Given the description of an element on the screen output the (x, y) to click on. 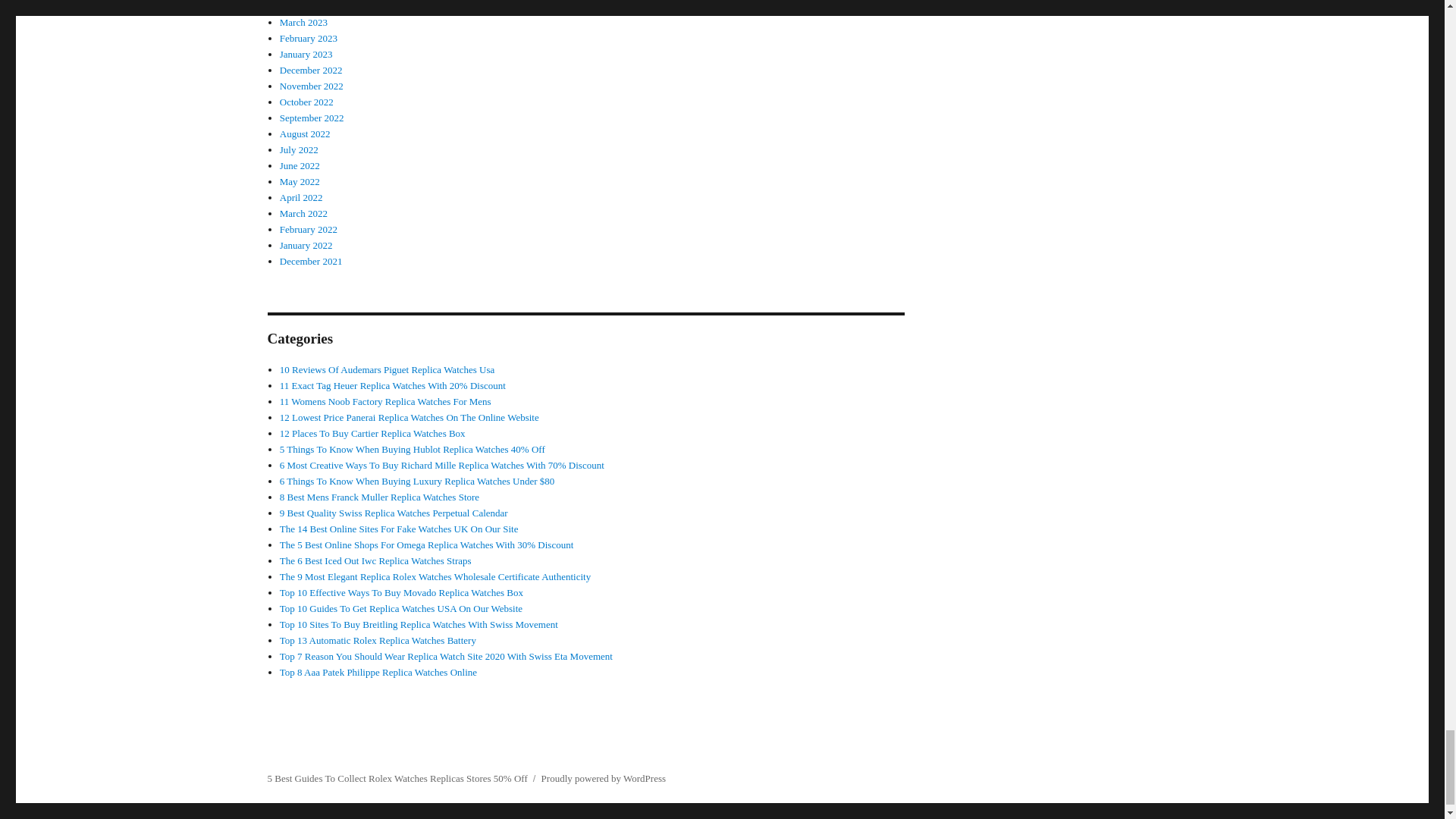
December 2022 (310, 70)
February 2023 (308, 38)
April 2023 (301, 6)
March 2023 (303, 21)
October 2022 (306, 101)
November 2022 (311, 85)
January 2023 (306, 53)
